Given the description of an element on the screen output the (x, y) to click on. 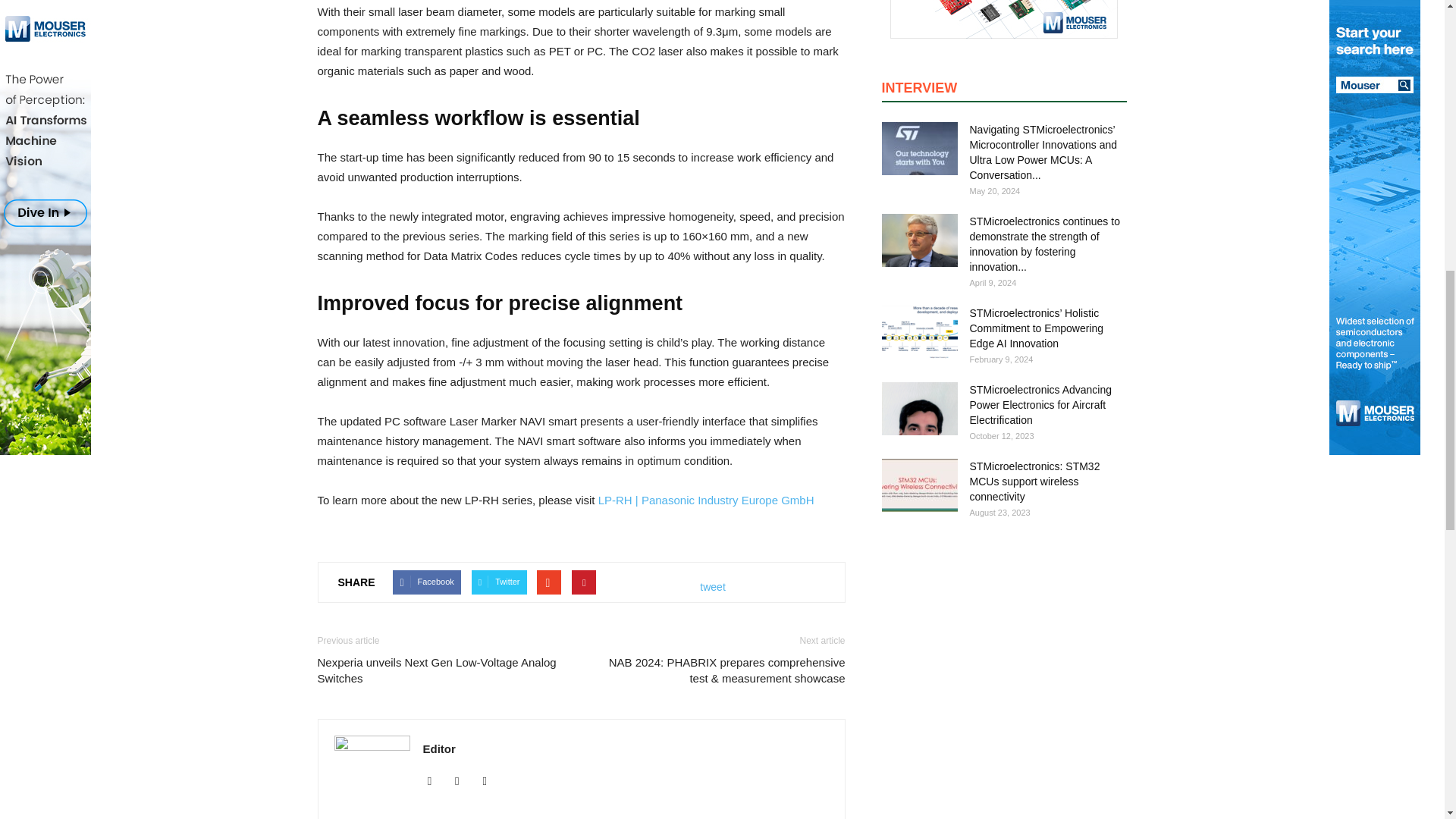
Facebook (435, 781)
Twitter (489, 781)
Mail (462, 781)
